Given the description of an element on the screen output the (x, y) to click on. 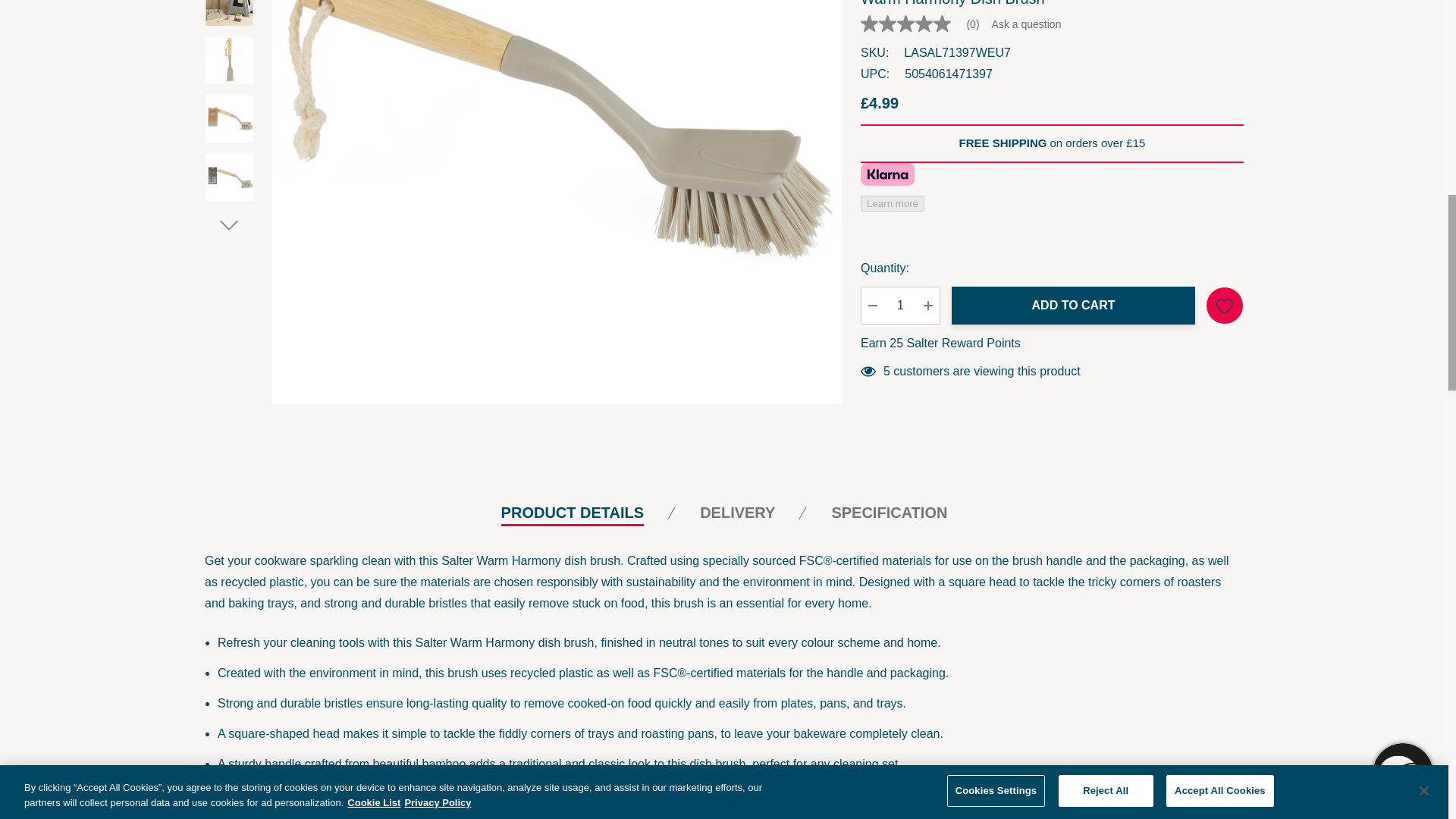
1 (900, 175)
